Given the description of an element on the screen output the (x, y) to click on. 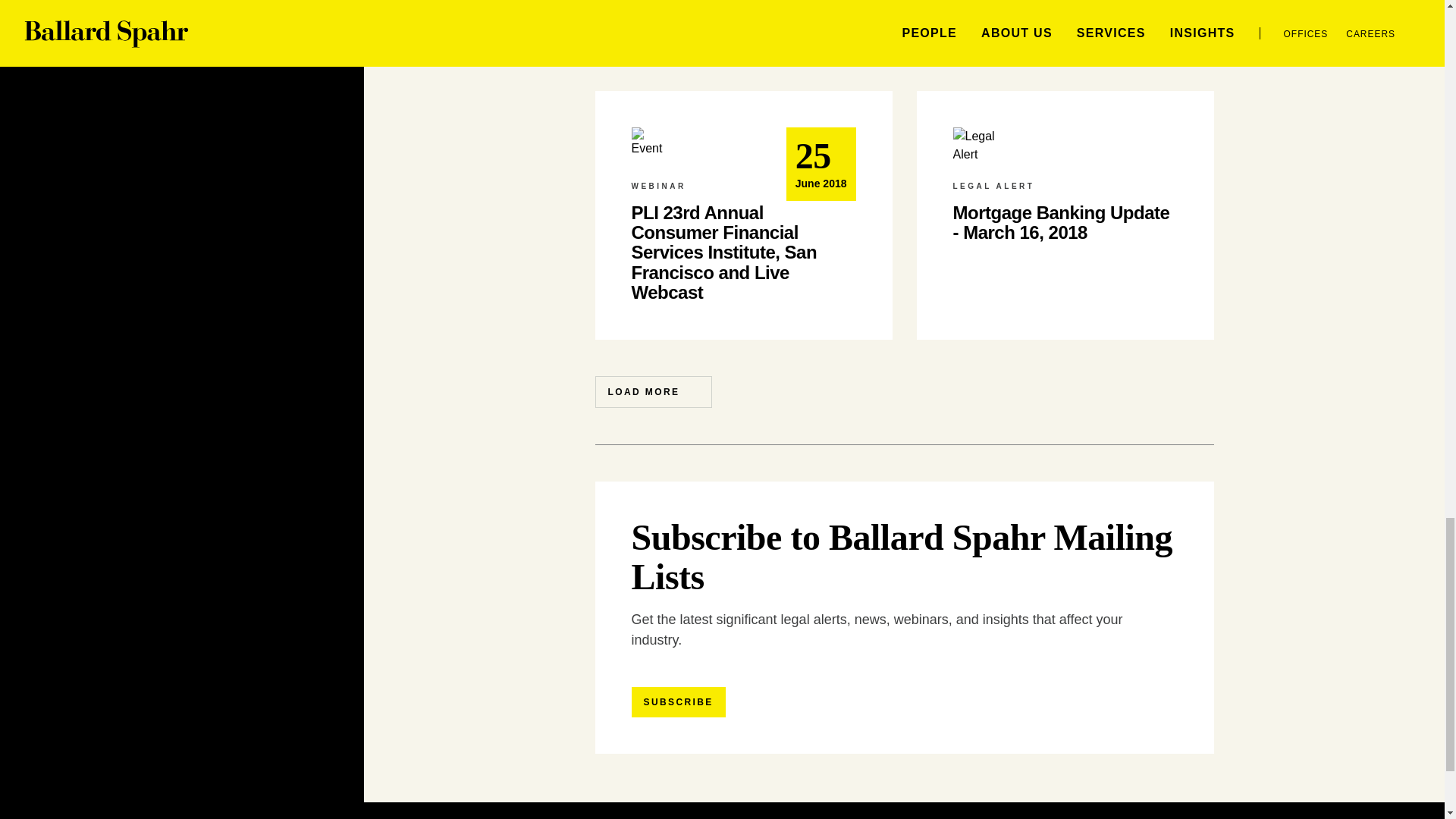
LOAD MORE (652, 391)
SUBSCRIBE (677, 702)
